Given the description of an element on the screen output the (x, y) to click on. 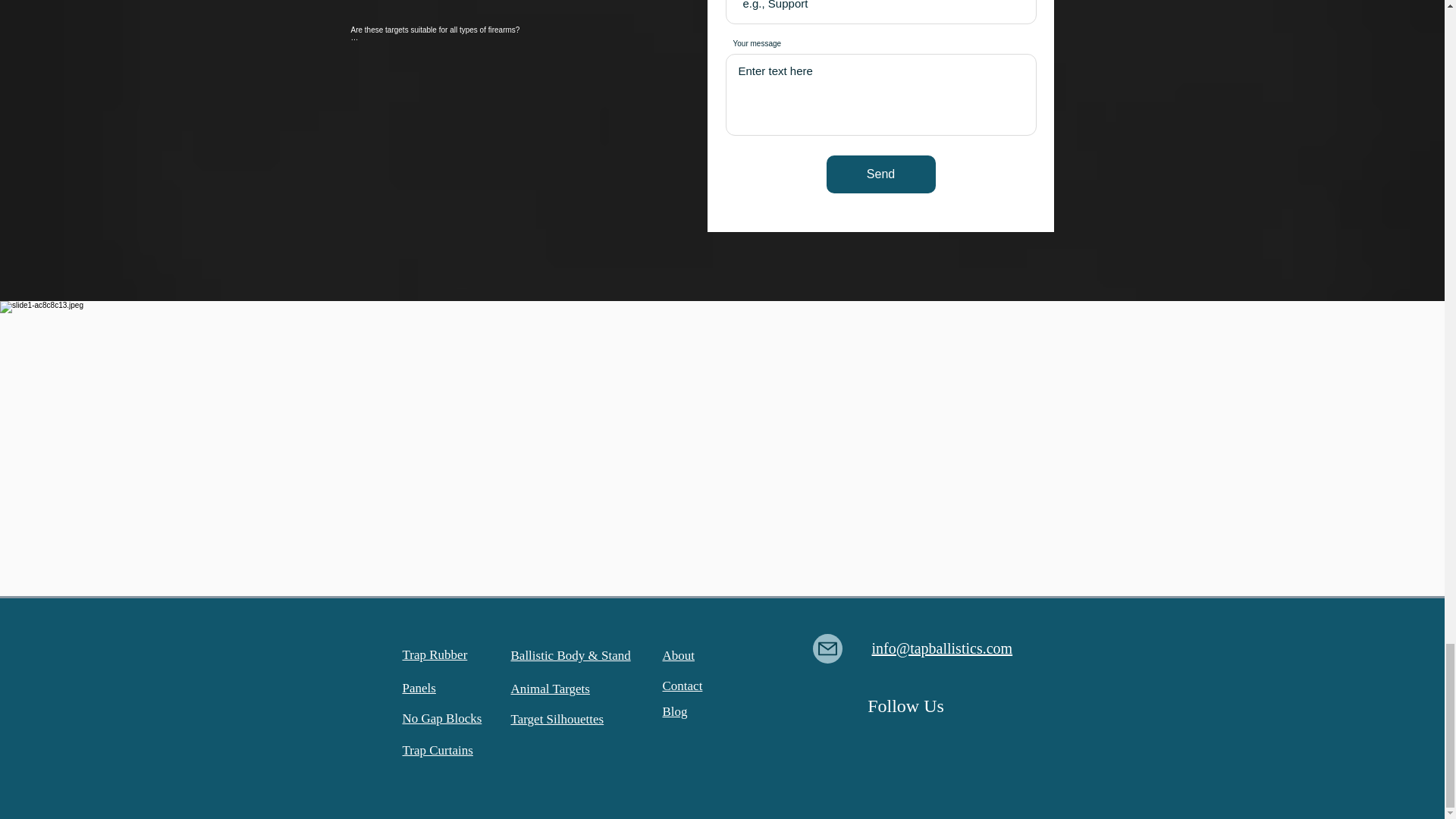
Panels (418, 687)
Blog (674, 711)
Send (881, 174)
About (678, 655)
Target Silhouettes (557, 718)
Trap Rubber (434, 654)
Animal Targets (550, 688)
Trap Curtains (436, 749)
No Gap Blocks (441, 718)
Contact (682, 685)
